Given the description of an element on the screen output the (x, y) to click on. 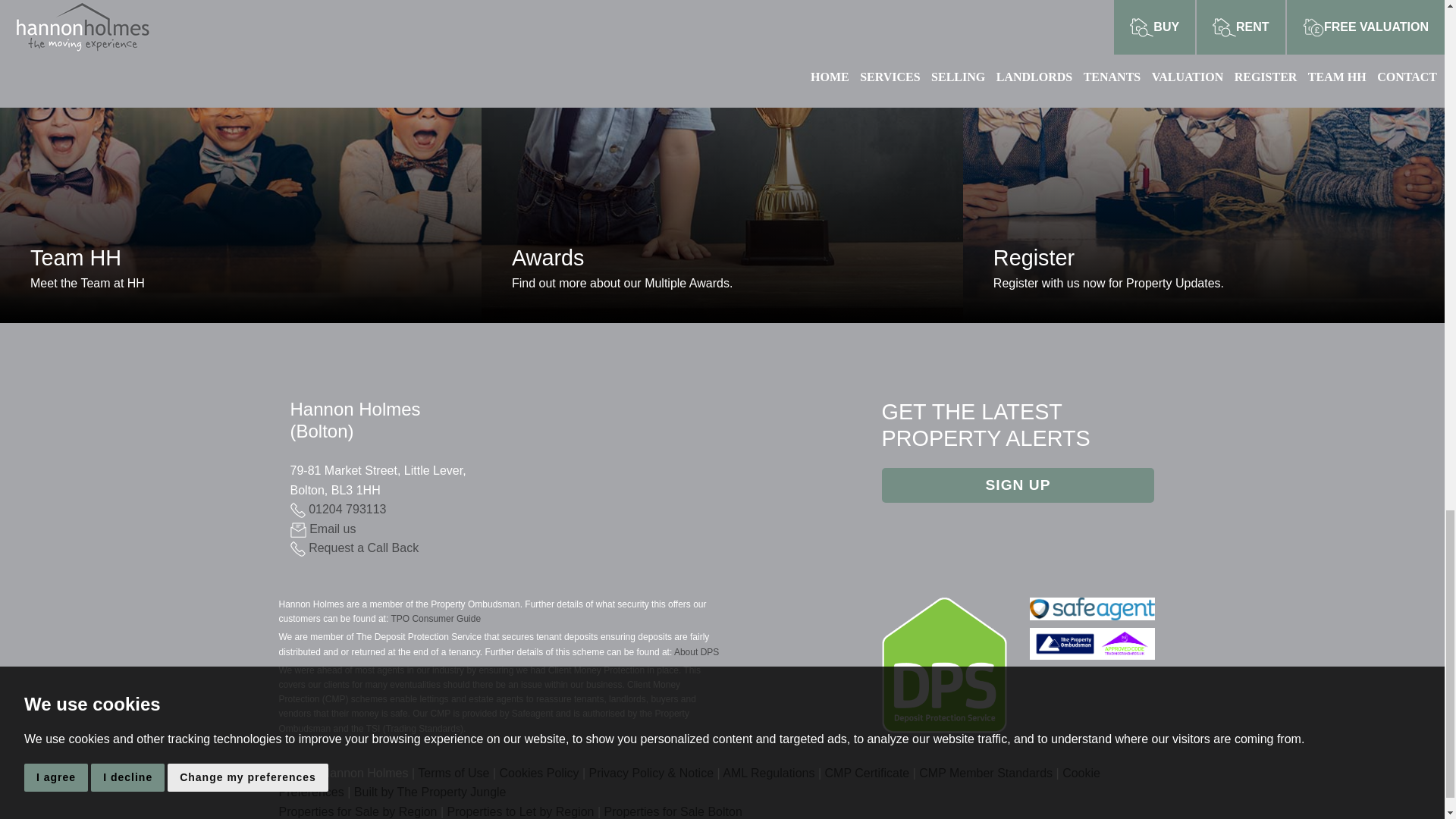
SIGN UP (1017, 484)
About DPS (696, 652)
TPO Consumer Guide (322, 528)
Request a Call Back (435, 618)
Property for Sale Bolton (354, 547)
Properties for Sale by region (672, 811)
01204 793113 (358, 811)
Properties to Let by region (337, 508)
